Given the description of an element on the screen output the (x, y) to click on. 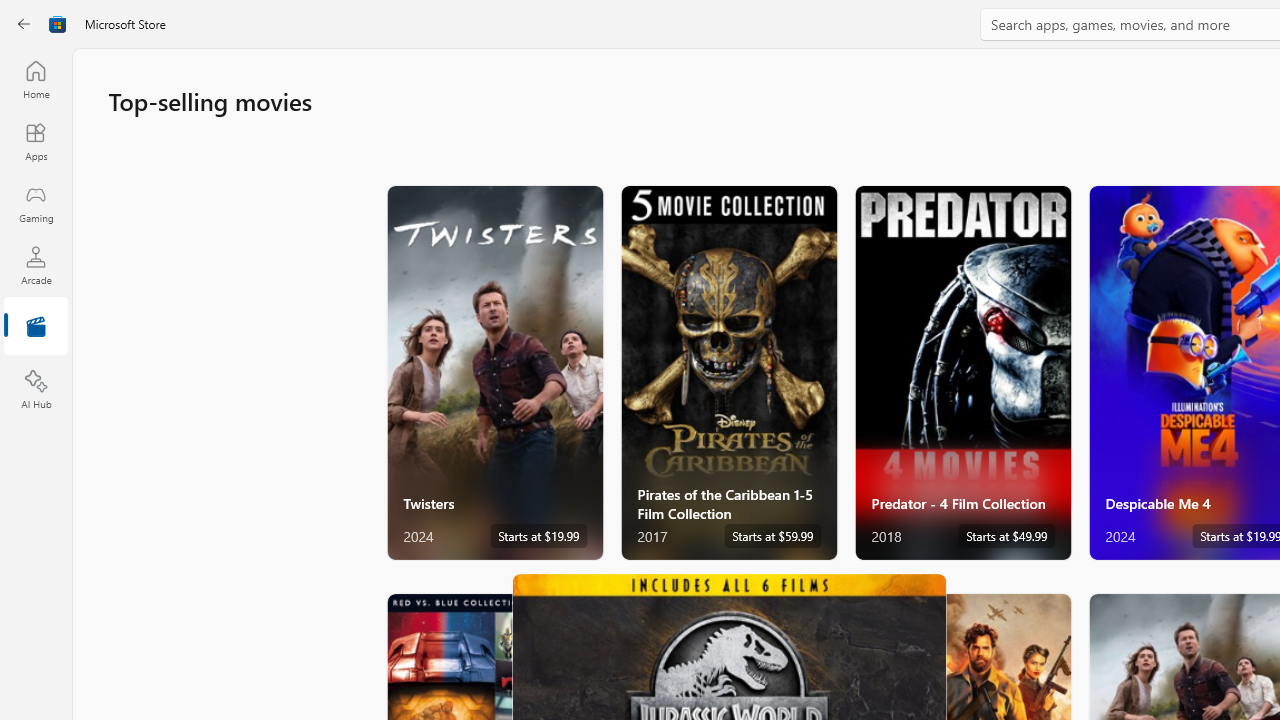
Back (24, 24)
